Given the description of an element on the screen output the (x, y) to click on. 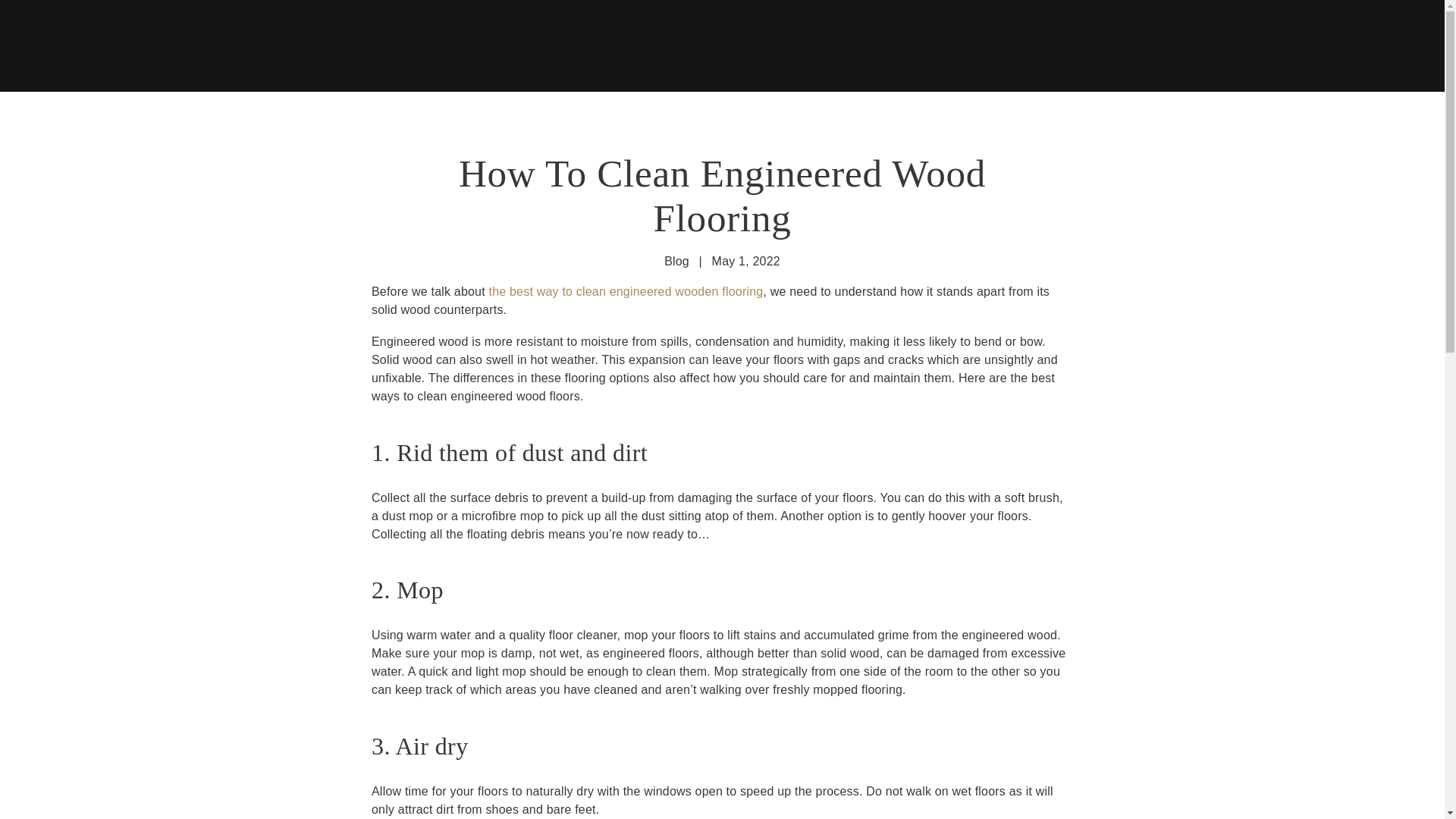
the best way to clean engineered wooden flooring (625, 291)
